Given the description of an element on the screen output the (x, y) to click on. 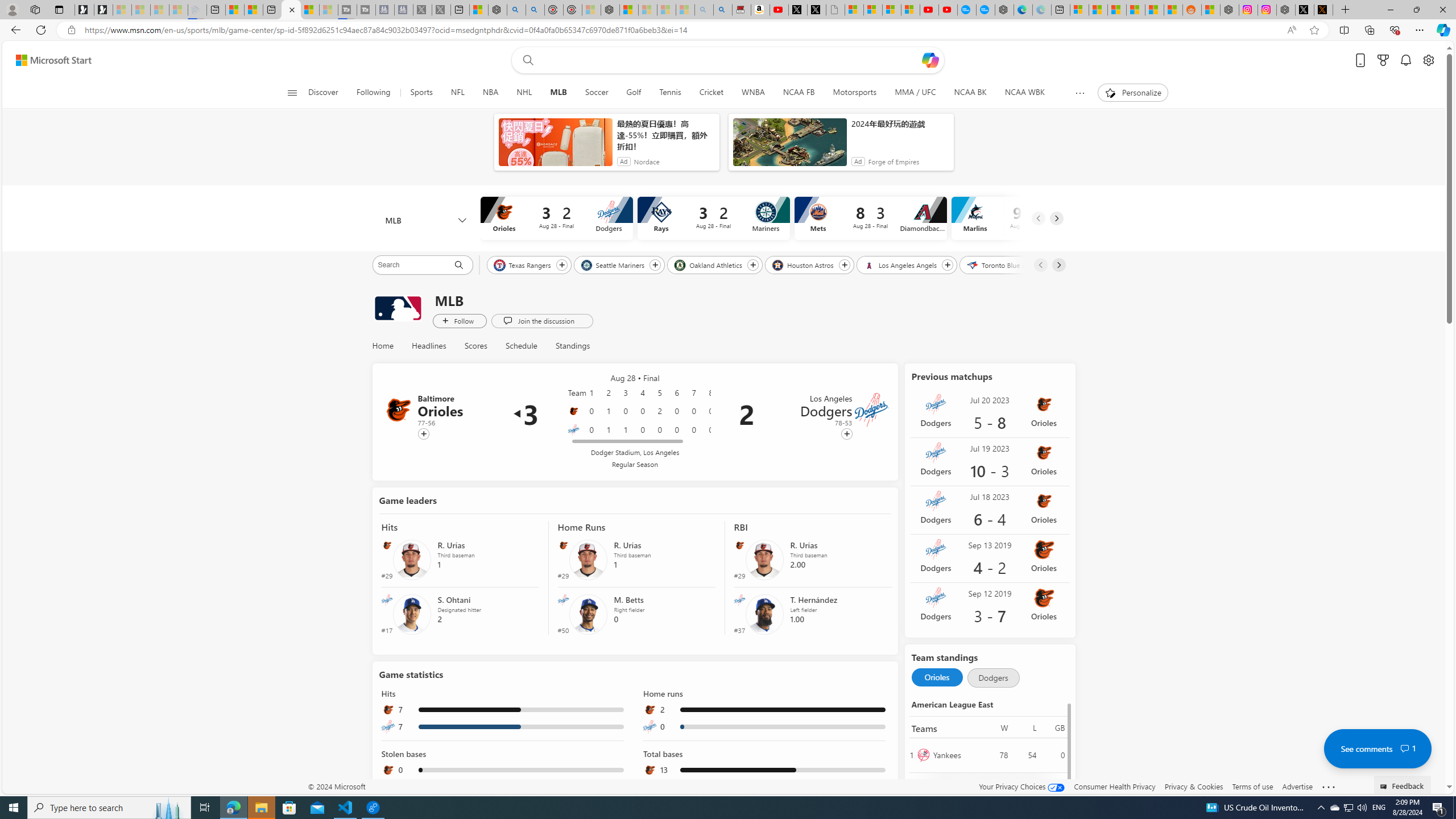
Sports (421, 92)
App bar (728, 29)
NCAA FB (798, 92)
Follow MLB 2024 (459, 320)
Nordace - Nordace has arrived Hong Kong (1004, 9)
YouTube Kids - An App Created for Kids to Explore Content (947, 9)
Home (387, 345)
Forge of Empires (892, 161)
Class: button-glyph (292, 92)
NBA (490, 92)
Cricket (710, 92)
